Given the description of an element on the screen output the (x, y) to click on. 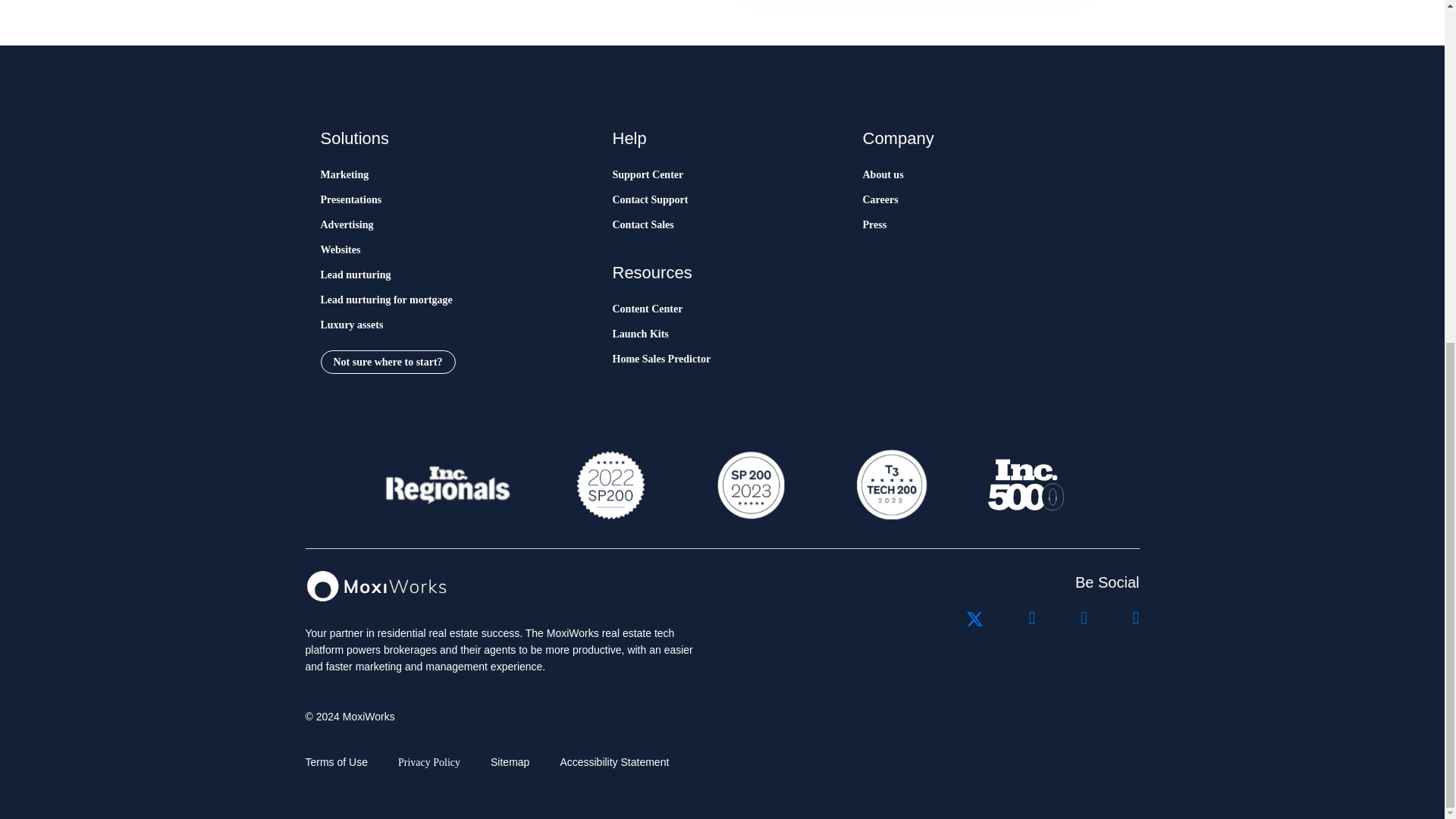
SP 2023 (749, 484)
SP 2022 (610, 484)
T3 tech 200 2023 (890, 484)
